Given the description of an element on the screen output the (x, y) to click on. 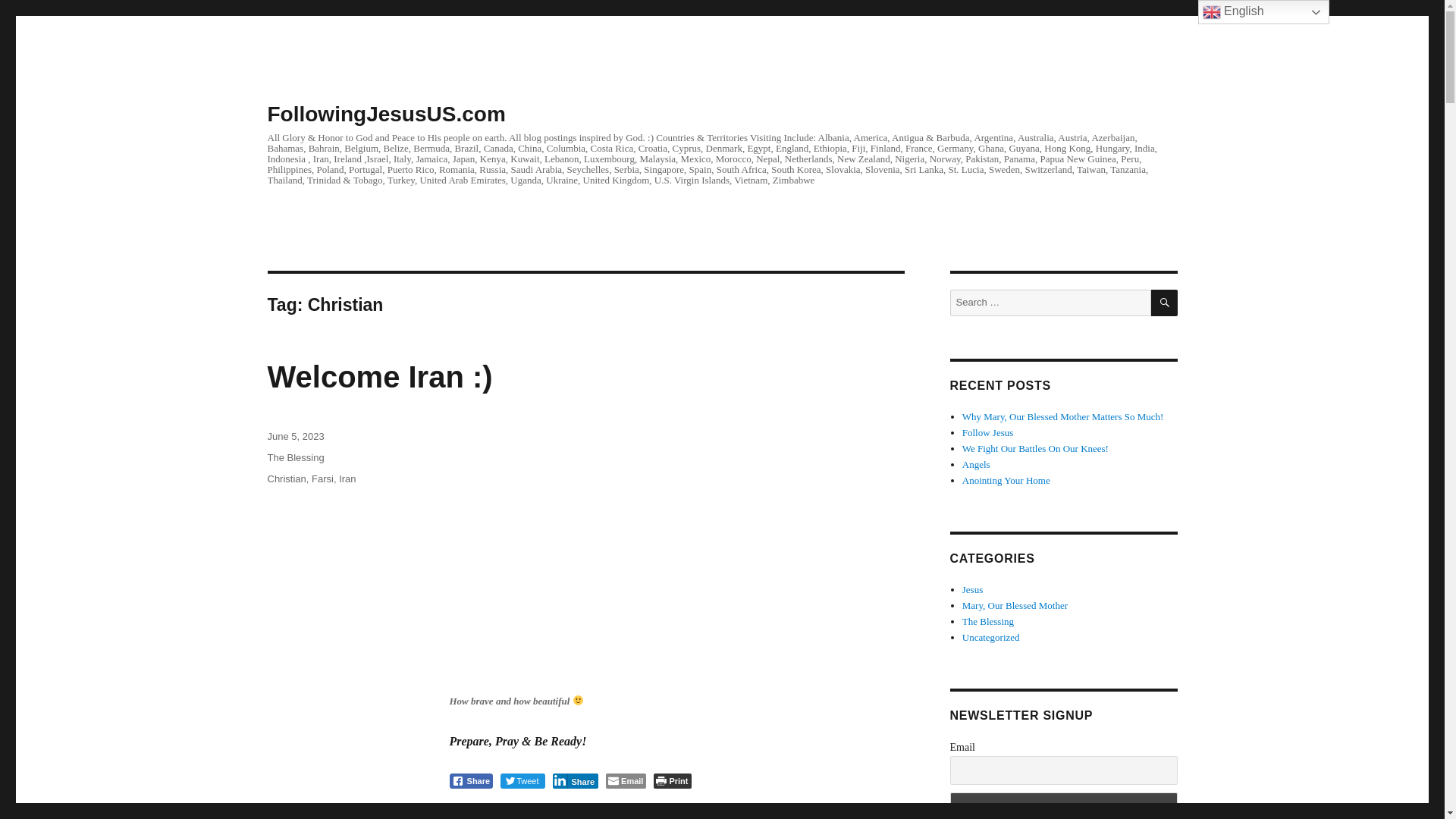
Email (625, 780)
Share (470, 780)
June 5, 2023 (294, 436)
FollowingJesusUS.com (385, 114)
Tweet (522, 780)
Subscribe (1062, 805)
Print (671, 780)
The Blessing (294, 457)
Share (574, 780)
Iran (347, 478)
Christian (285, 478)
Farsi (322, 478)
